Given the description of an element on the screen output the (x, y) to click on. 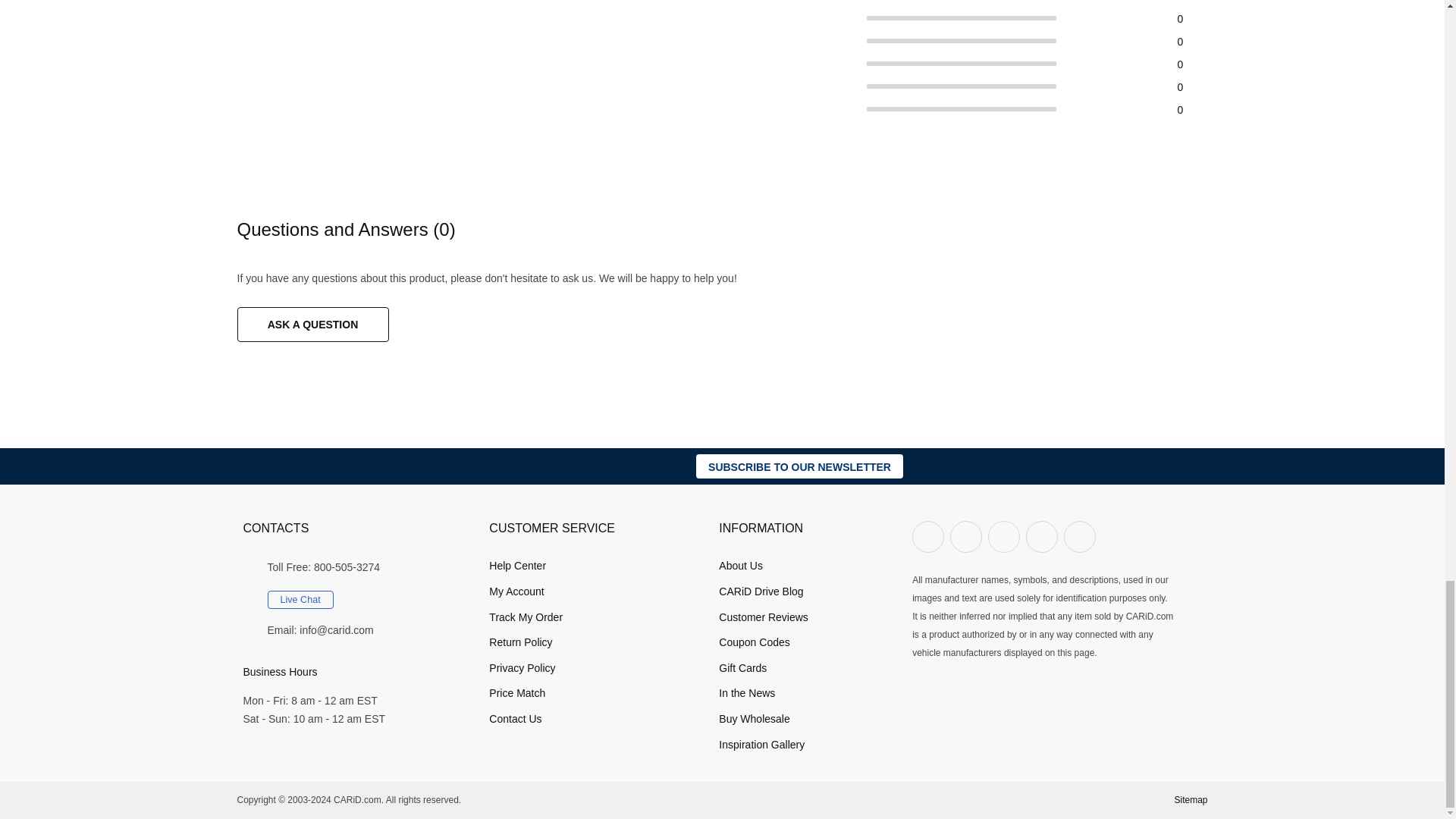
800-505-3274 (347, 567)
Sitemap (1190, 799)
SUBSCRIBE TO OUR NEWSLETTER (798, 466)
ASK A QUESTION (311, 324)
